Given the description of an element on the screen output the (x, y) to click on. 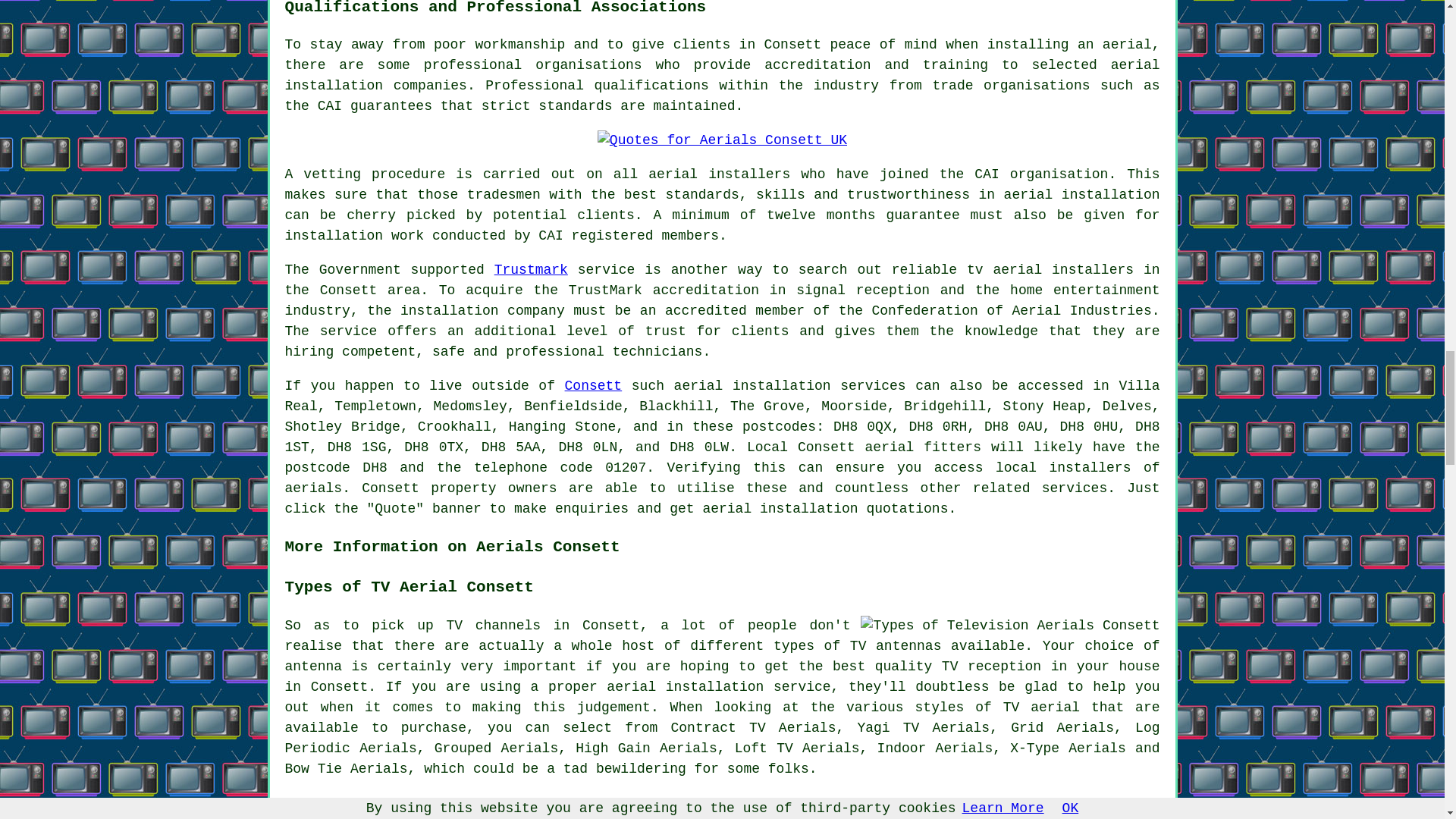
Quotes for Aerials Consett UK (721, 140)
Types of Aerials Consett (1009, 625)
aerials (313, 488)
aerial fitters (922, 447)
services (1074, 488)
